Given the description of an element on the screen output the (x, y) to click on. 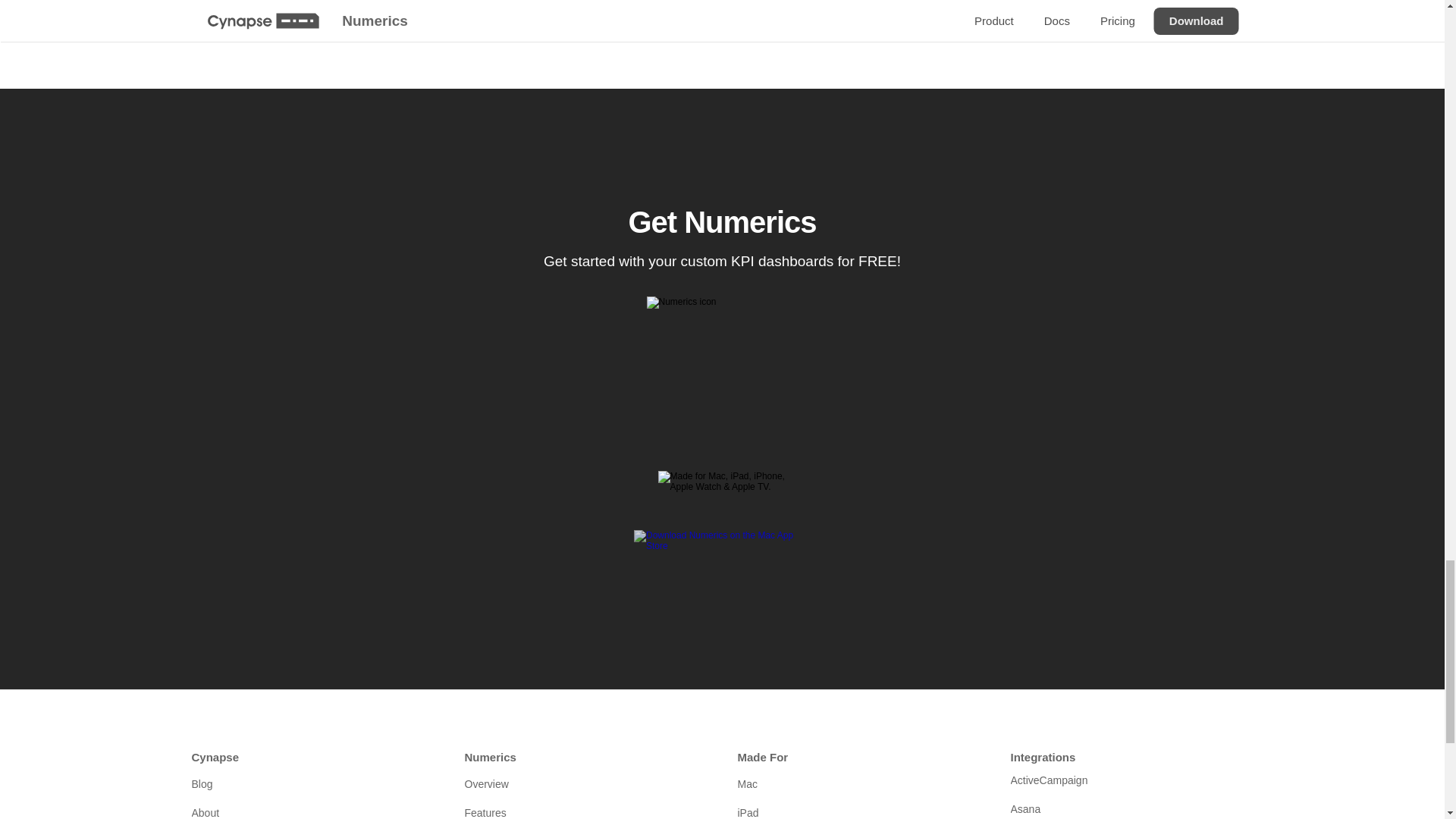
iPad (857, 809)
Overview (585, 784)
About (311, 809)
Blog (311, 784)
Mac (857, 784)
Features (585, 809)
